Given the description of an element on the screen output the (x, y) to click on. 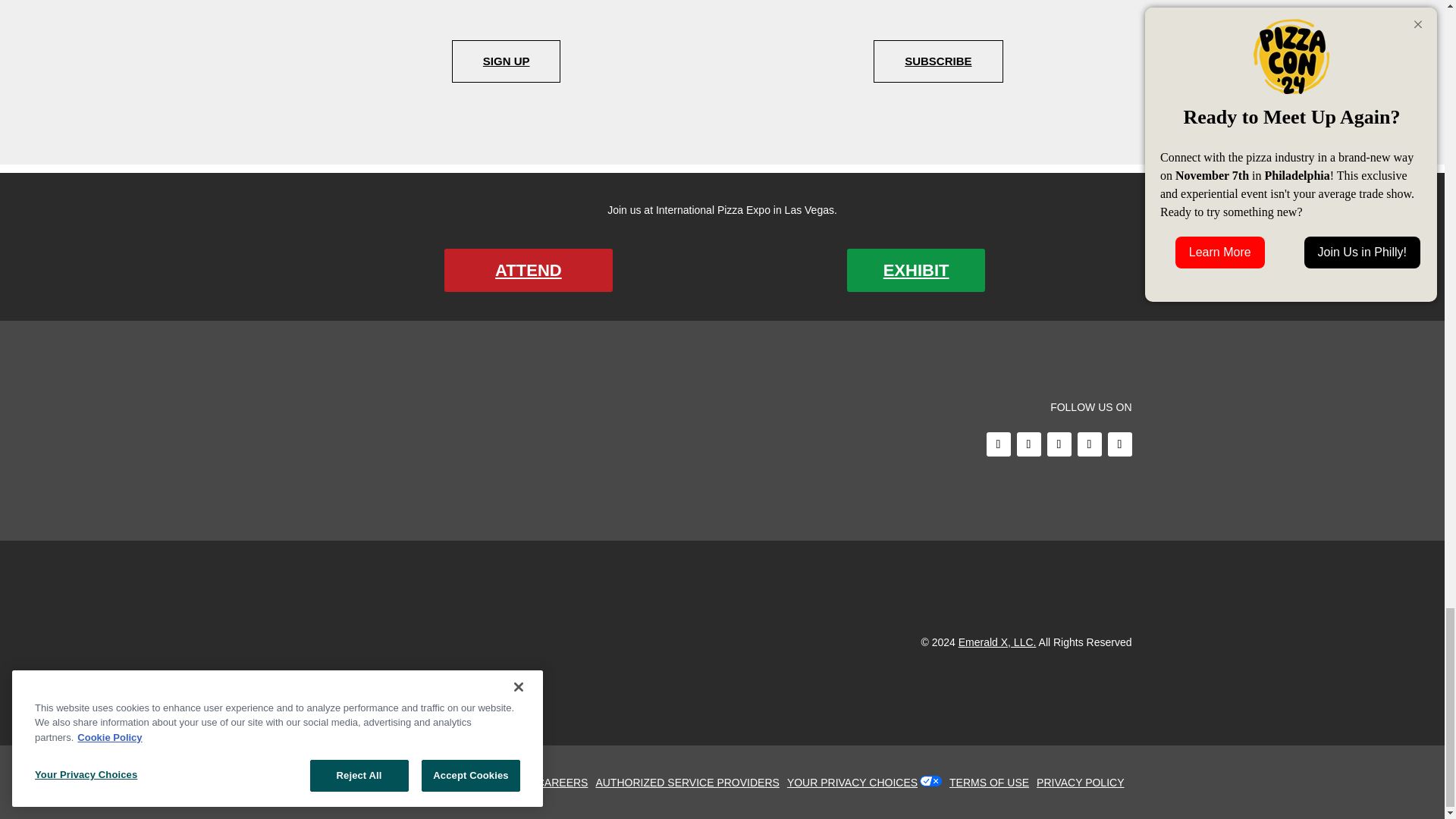
your-privacy-choices (855, 782)
Follow on X (1028, 444)
terms-of-use (992, 782)
Follow on LinkedIn (1118, 444)
Follow on Facebook (997, 444)
about (515, 782)
Follow on Instagram (1058, 444)
Follow on Youtube (1088, 444)
careers (566, 782)
privacy-policy (1083, 782)
authorized-service-providers (690, 782)
